Given the description of an element on the screen output the (x, y) to click on. 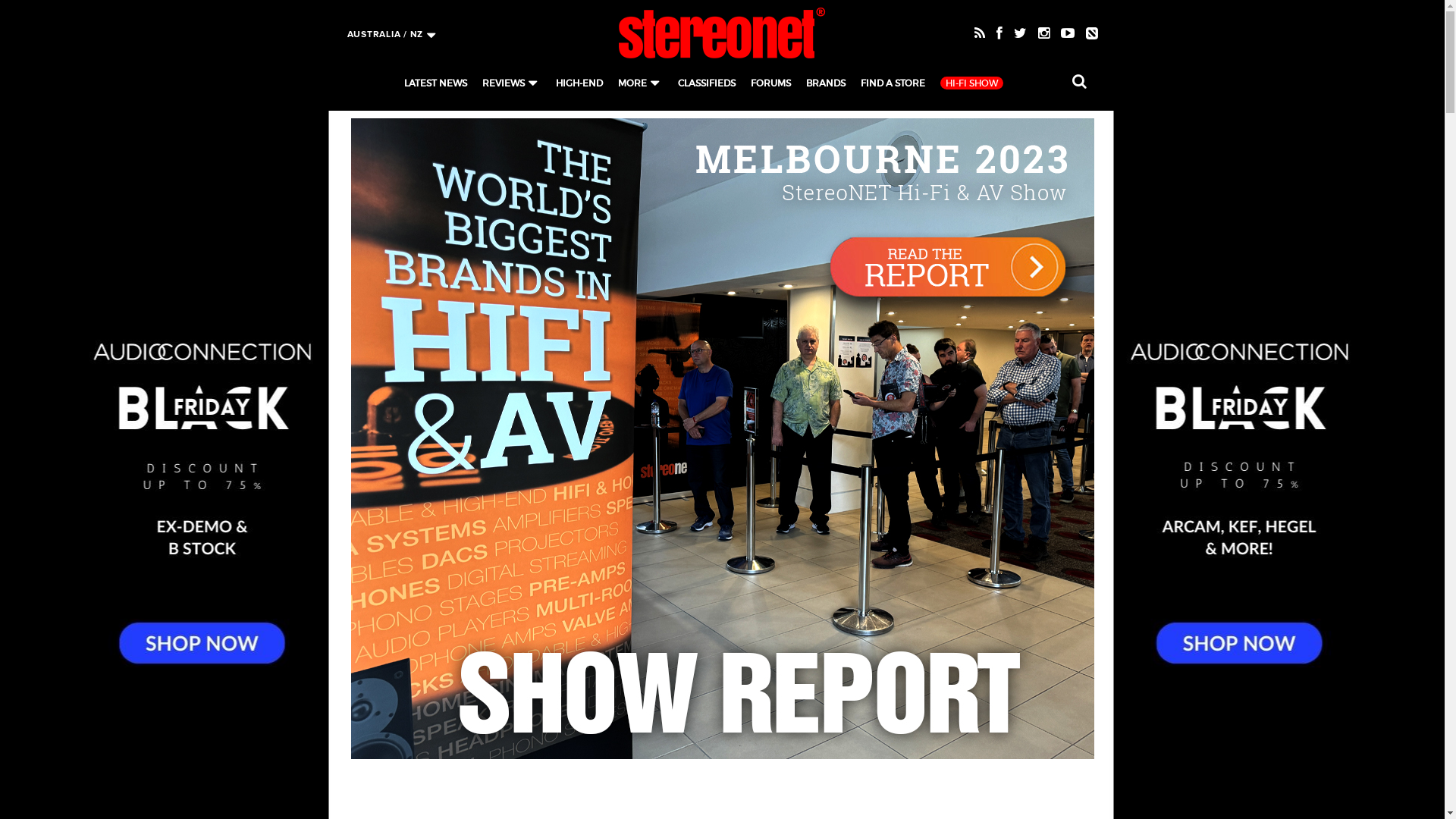
HI-FI SHOW Element type: text (971, 82)
Show Front Cover Element type: hover (721, 438)
BRANDS Element type: text (825, 82)
MORE Element type: text (632, 82)
AUSTRALIA / NZ Element type: text (391, 33)
CLASSIFIEDS Element type: text (706, 82)
HIGH-END Element type: text (578, 82)
LATEST NEWS Element type: text (435, 82)
FORUMS Element type: text (770, 82)
REVIEWS Element type: text (503, 82)
FIND A STORE Element type: text (892, 82)
